Given the description of an element on the screen output the (x, y) to click on. 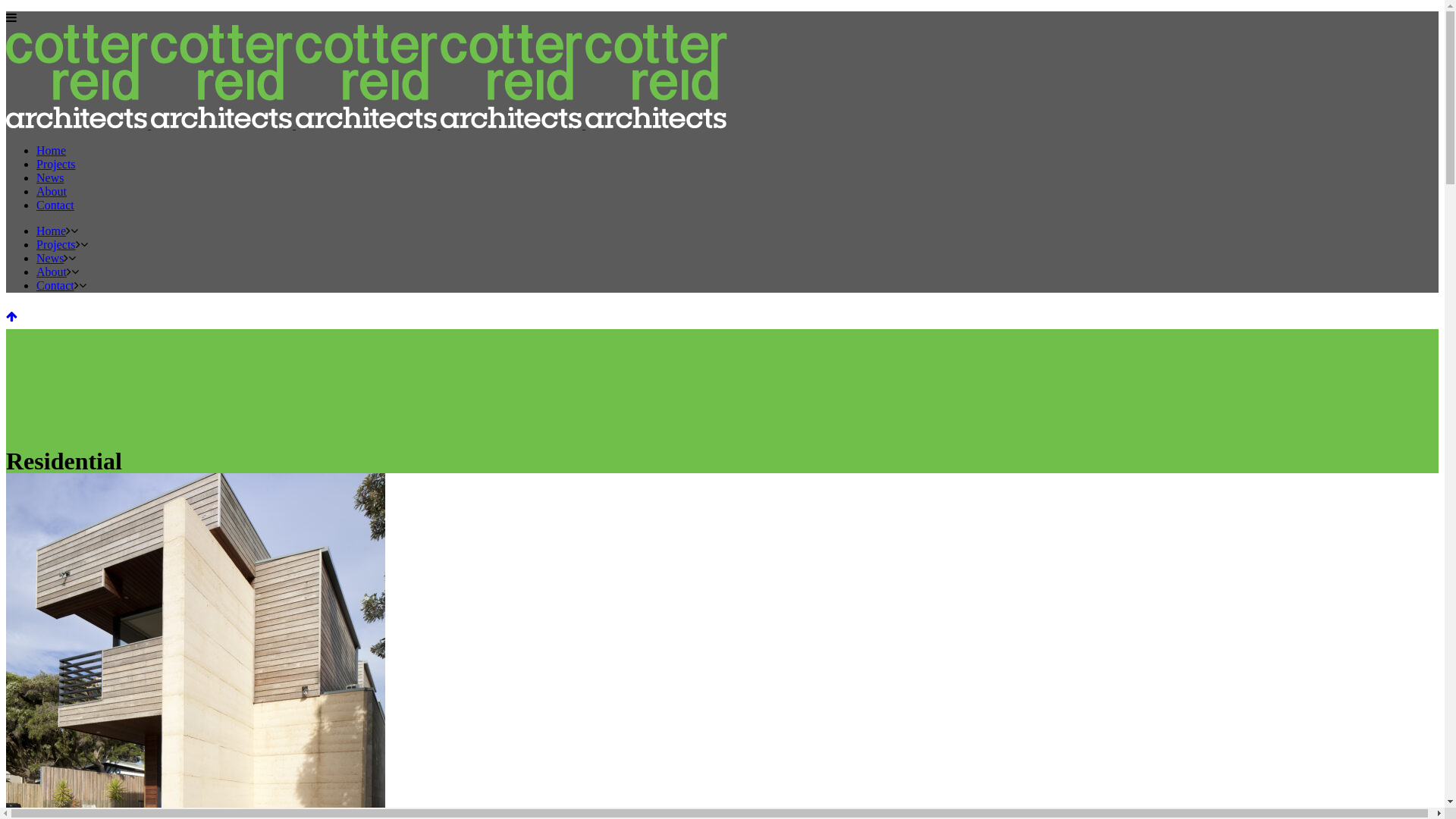
News Element type: text (49, 177)
Home Element type: text (50, 230)
About Element type: text (51, 191)
Contact Element type: text (55, 285)
News Element type: text (49, 257)
Projects Element type: text (55, 163)
Home Element type: text (50, 150)
Contact Element type: text (55, 204)
About Element type: text (51, 271)
Projects Element type: text (55, 244)
